Given the description of an element on the screen output the (x, y) to click on. 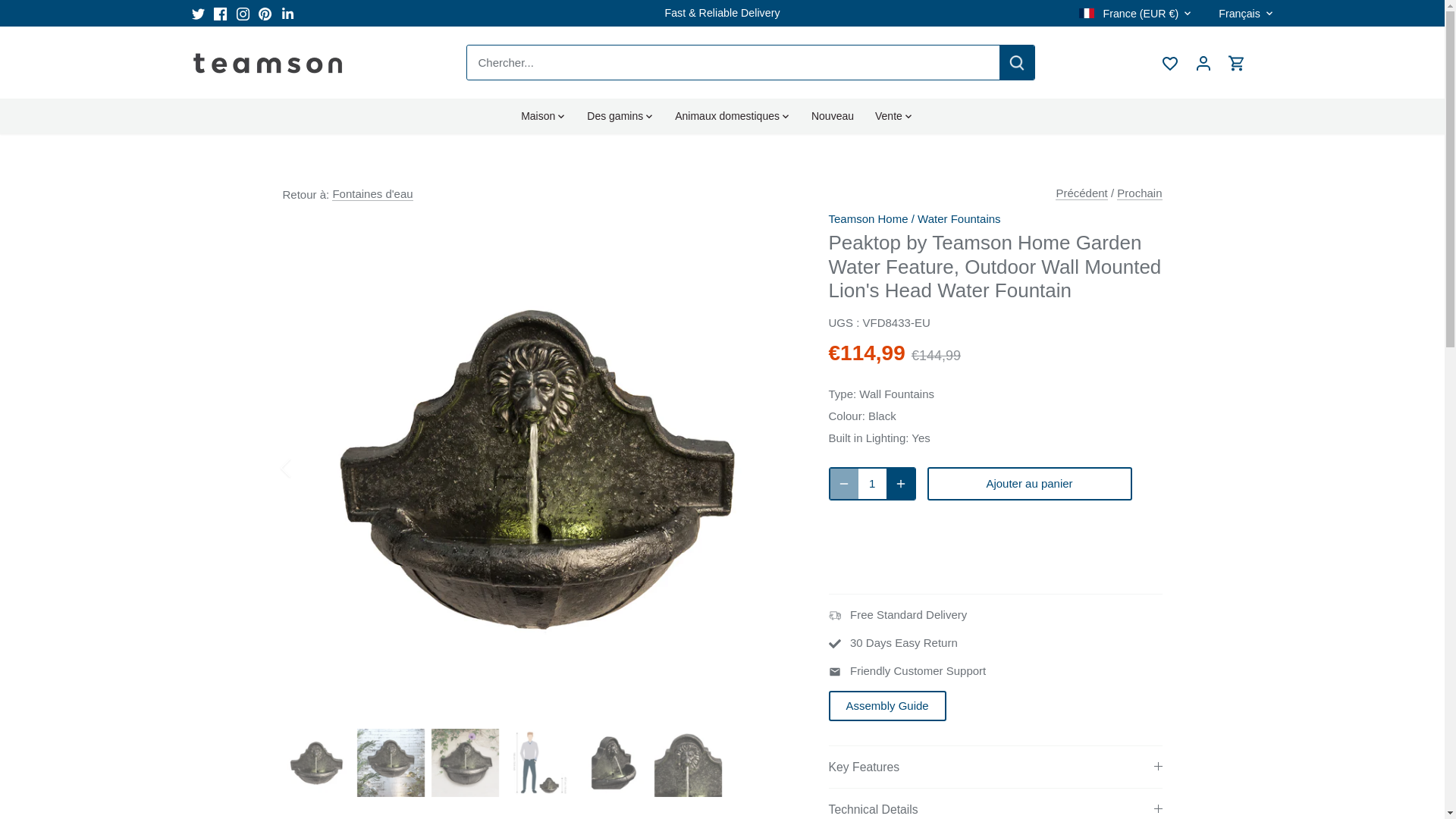
Maison (543, 115)
Fontaines d'eau (371, 193)
Pinterest (265, 13)
1 (872, 483)
Instagram (241, 13)
Facebook (220, 13)
Twitter (196, 13)
